Given the description of an element on the screen output the (x, y) to click on. 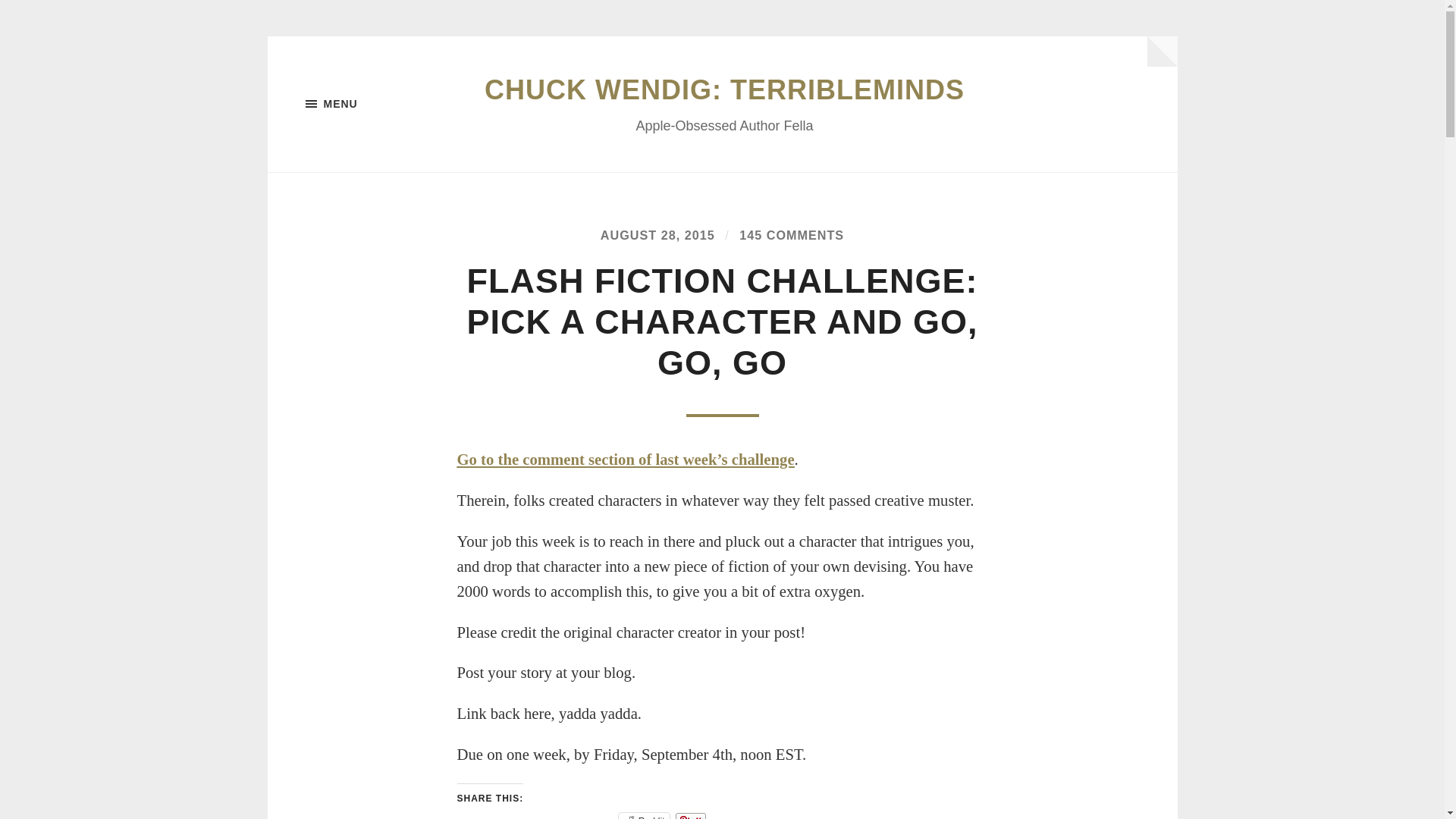
MENU (380, 103)
Tweet (476, 816)
Click to share on Reddit (643, 816)
AUGUST 28, 2015 (656, 234)
Reddit (643, 816)
CHUCK WENDIG: TERRIBLEMINDS (723, 89)
Share on Tumblr (559, 816)
Share on Tumblr (559, 816)
145 COMMENTS (791, 234)
